Given the description of an element on the screen output the (x, y) to click on. 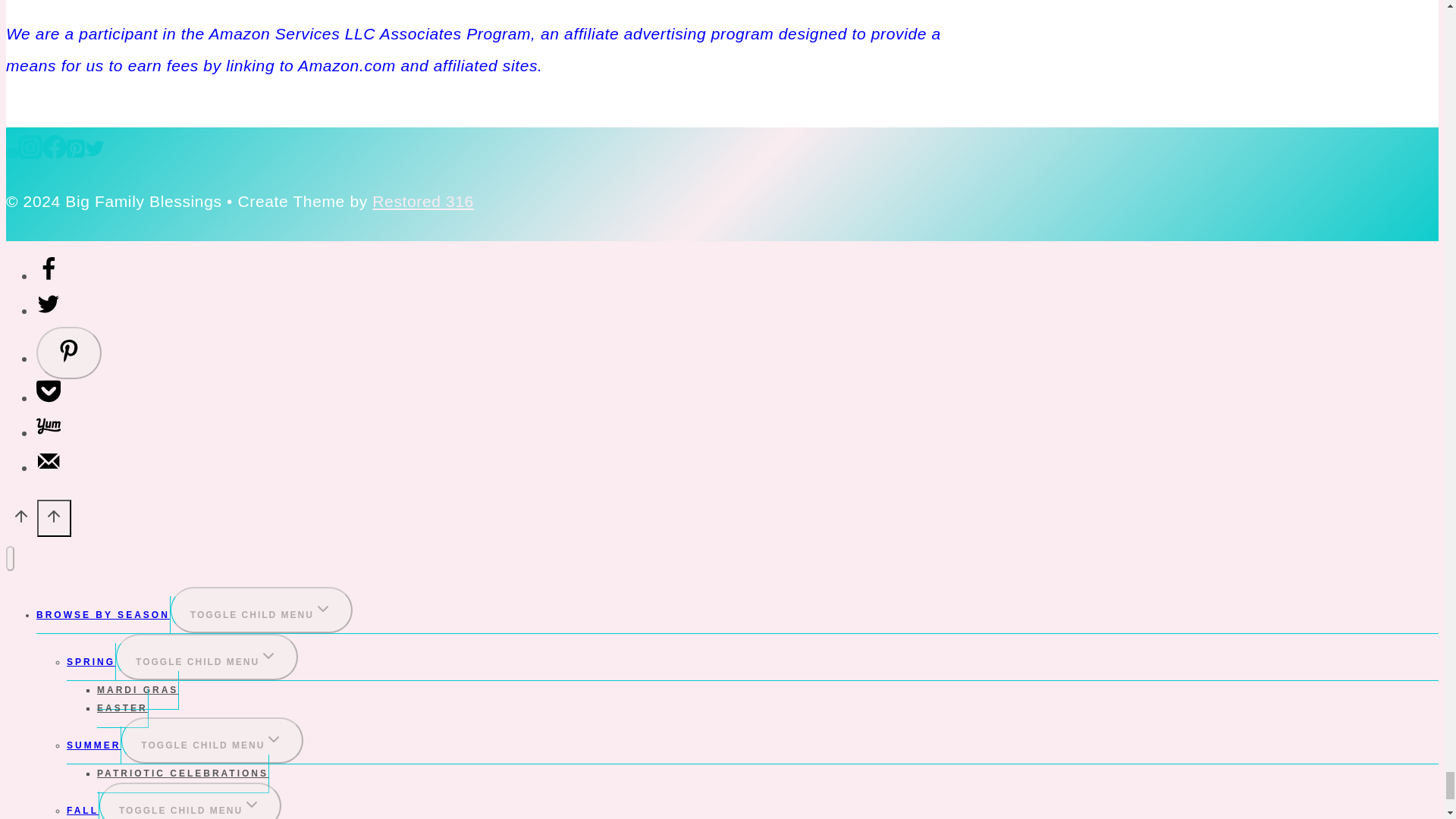
Share on Yummly (48, 432)
Share on Pocket (48, 397)
Share on Facebook (48, 275)
Scroll to top (21, 520)
Share on Twitter (48, 310)
Save to Pinterest (68, 352)
SCROLL TO TOP (54, 518)
Send over email (48, 466)
